Given the description of an element on the screen output the (x, y) to click on. 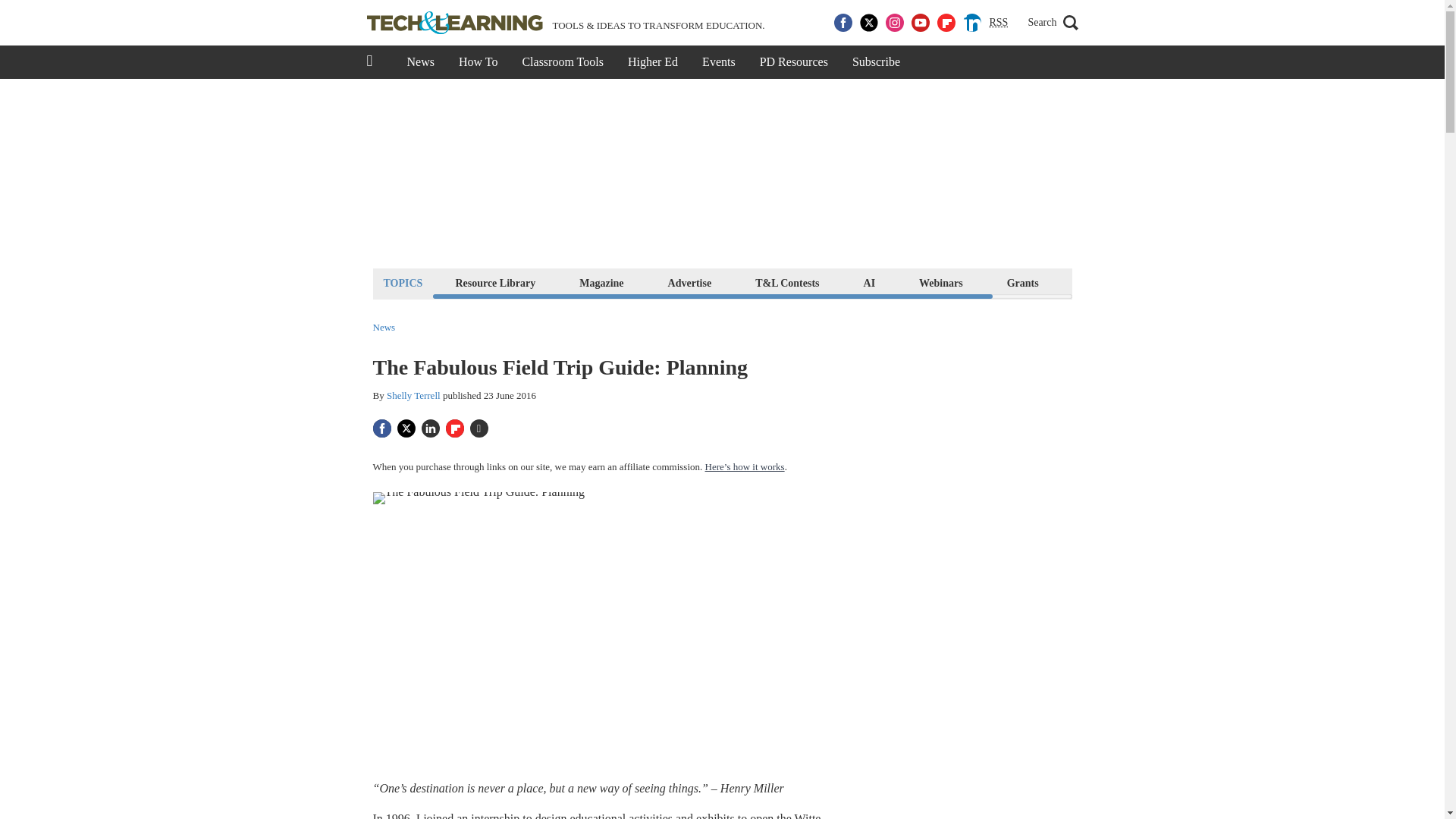
Classroom Tools (561, 61)
News (419, 61)
RSS (997, 22)
Advertise (689, 282)
Events (719, 61)
AI (869, 282)
What to Buy (1111, 282)
Grants (1022, 282)
Subscribe (876, 61)
How To (477, 61)
Shelly Terrell (414, 395)
PD Resources (794, 61)
Resource Library (494, 282)
Higher Ed (652, 61)
Webinars (941, 282)
